Given the description of an element on the screen output the (x, y) to click on. 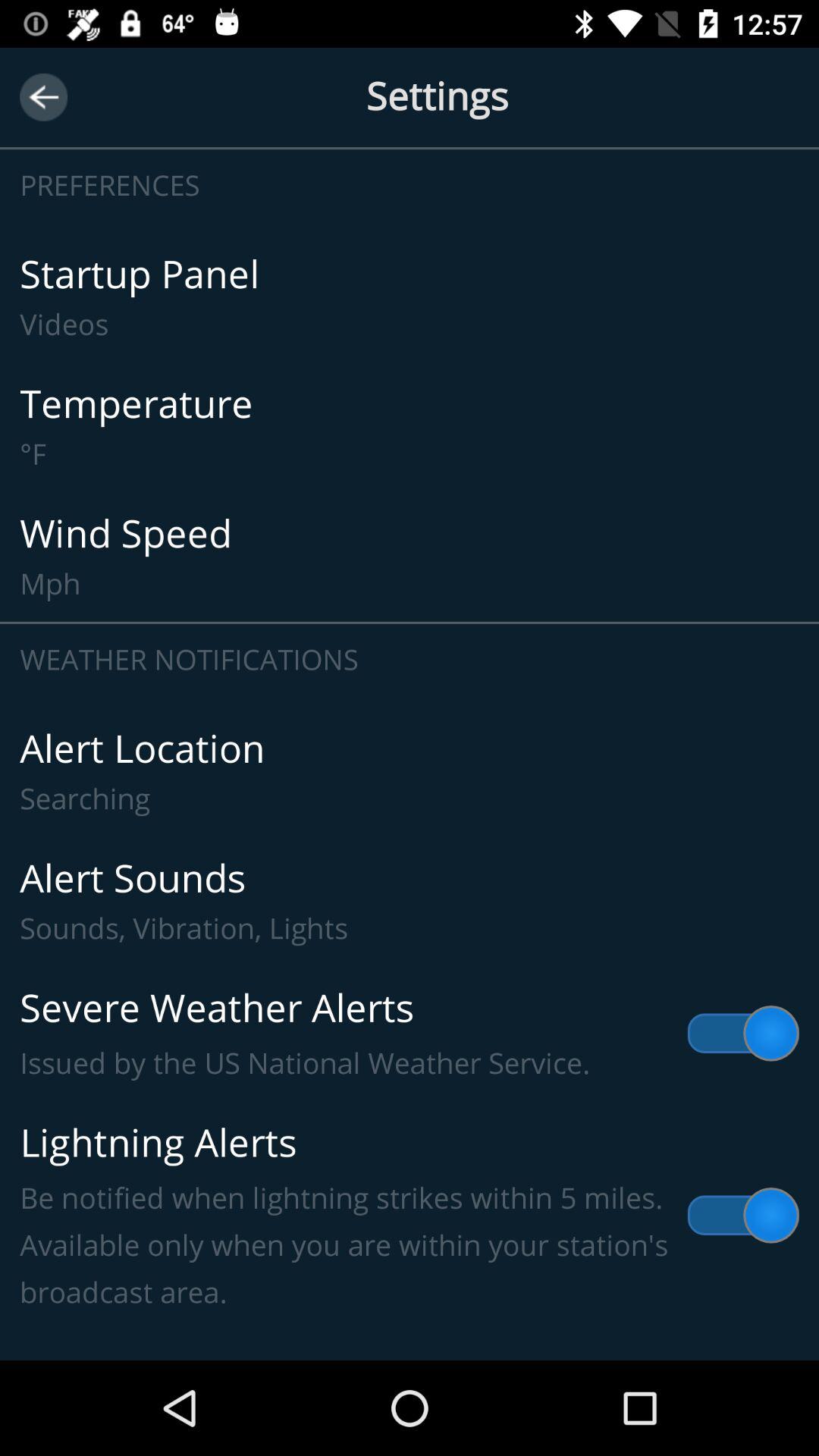
turn off the icon to the left of settings item (43, 97)
